Given the description of an element on the screen output the (x, y) to click on. 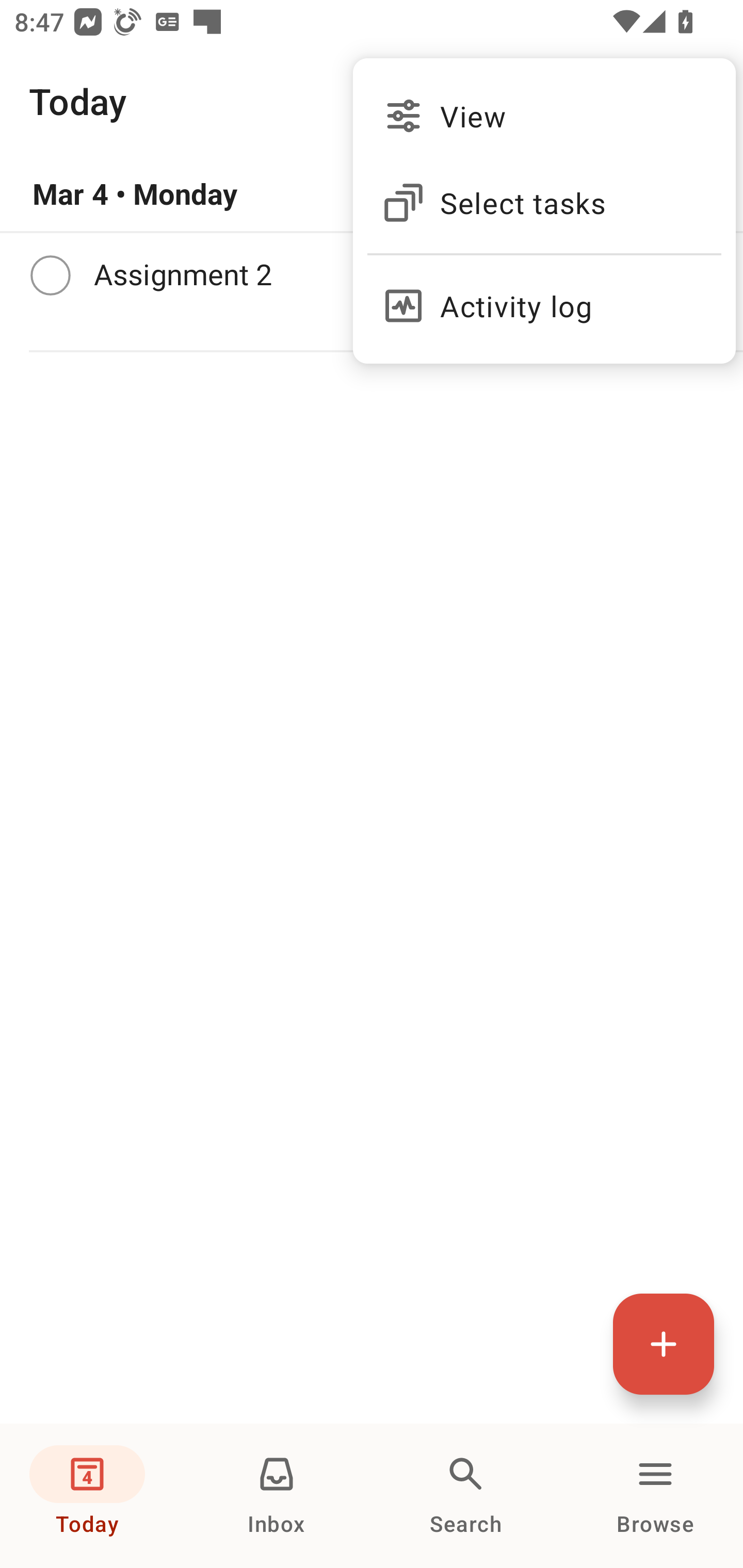
View (544, 115)
Select tasks (544, 202)
Activity log (544, 297)
